Given the description of an element on the screen output the (x, y) to click on. 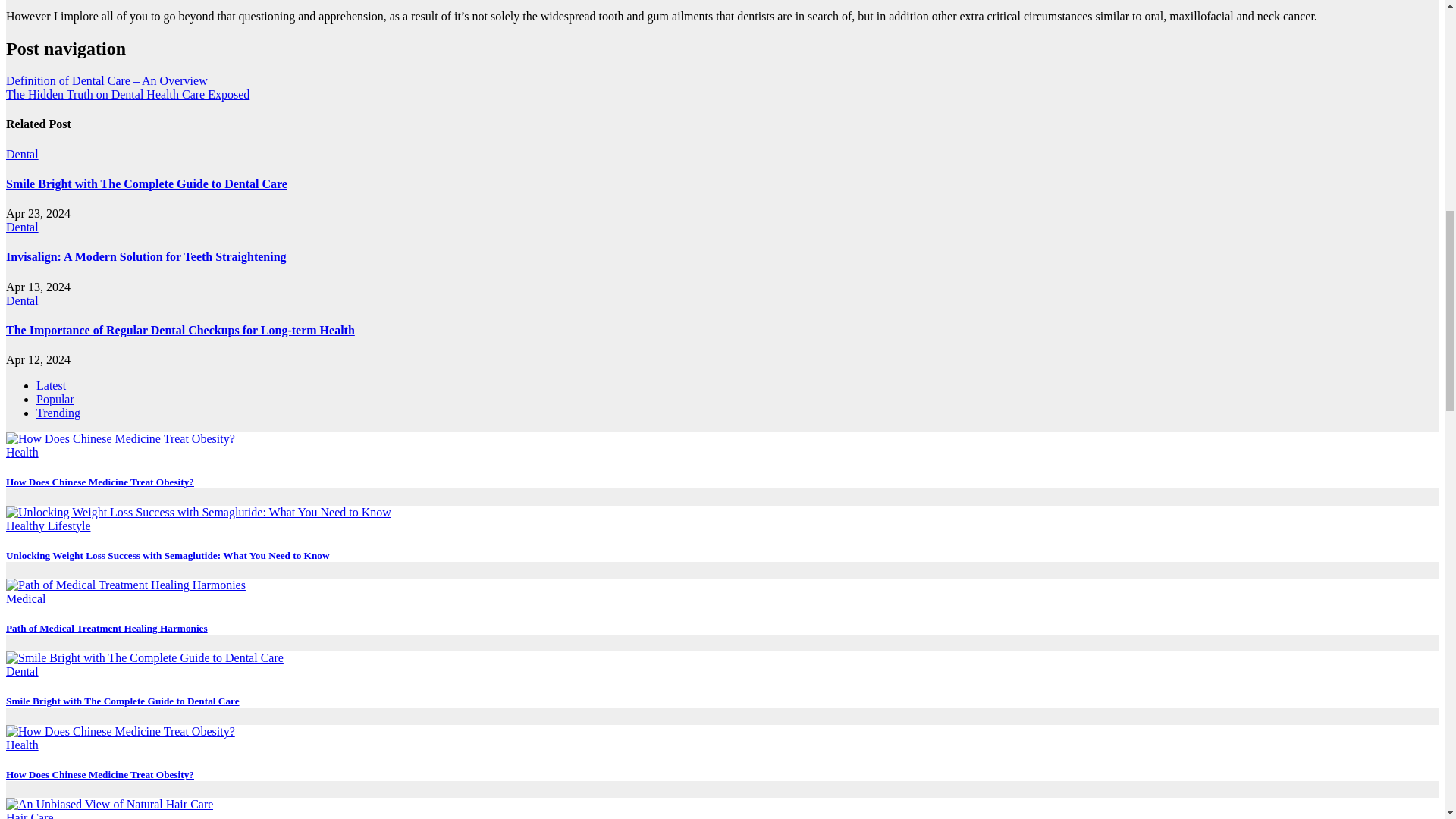
Dental (22, 226)
Invisalign: A Modern Solution for Teeth Straightening (145, 256)
Dental (22, 300)
Smile Bright with The Complete Guide to Dental Care (145, 183)
Dental (22, 154)
